Given the description of an element on the screen output the (x, y) to click on. 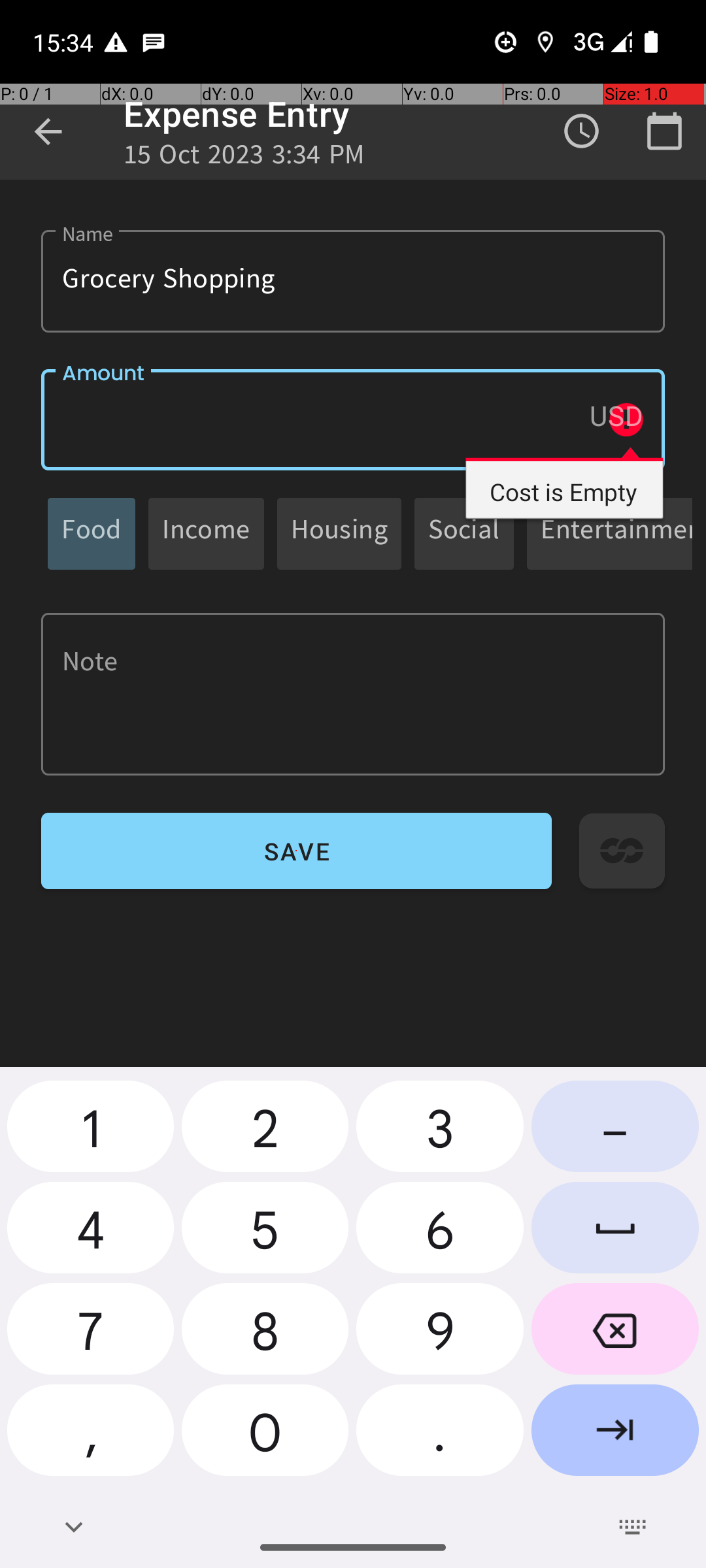
Expense Entry Element type: android.widget.TextView (236, 113)
15 Oct 2023 3:34 PM Element type: android.widget.TextView (244, 157)
Grocery Shopping Element type: android.widget.EditText (352, 280)
SAVE Element type: android.widget.Button (296, 850)
Cost is Empty Element type: android.widget.TextView (564, 481)
Dash Element type: android.widget.FrameLayout (614, 1130)
Next Element type: android.widget.FrameLayout (614, 1434)
